Given the description of an element on the screen output the (x, y) to click on. 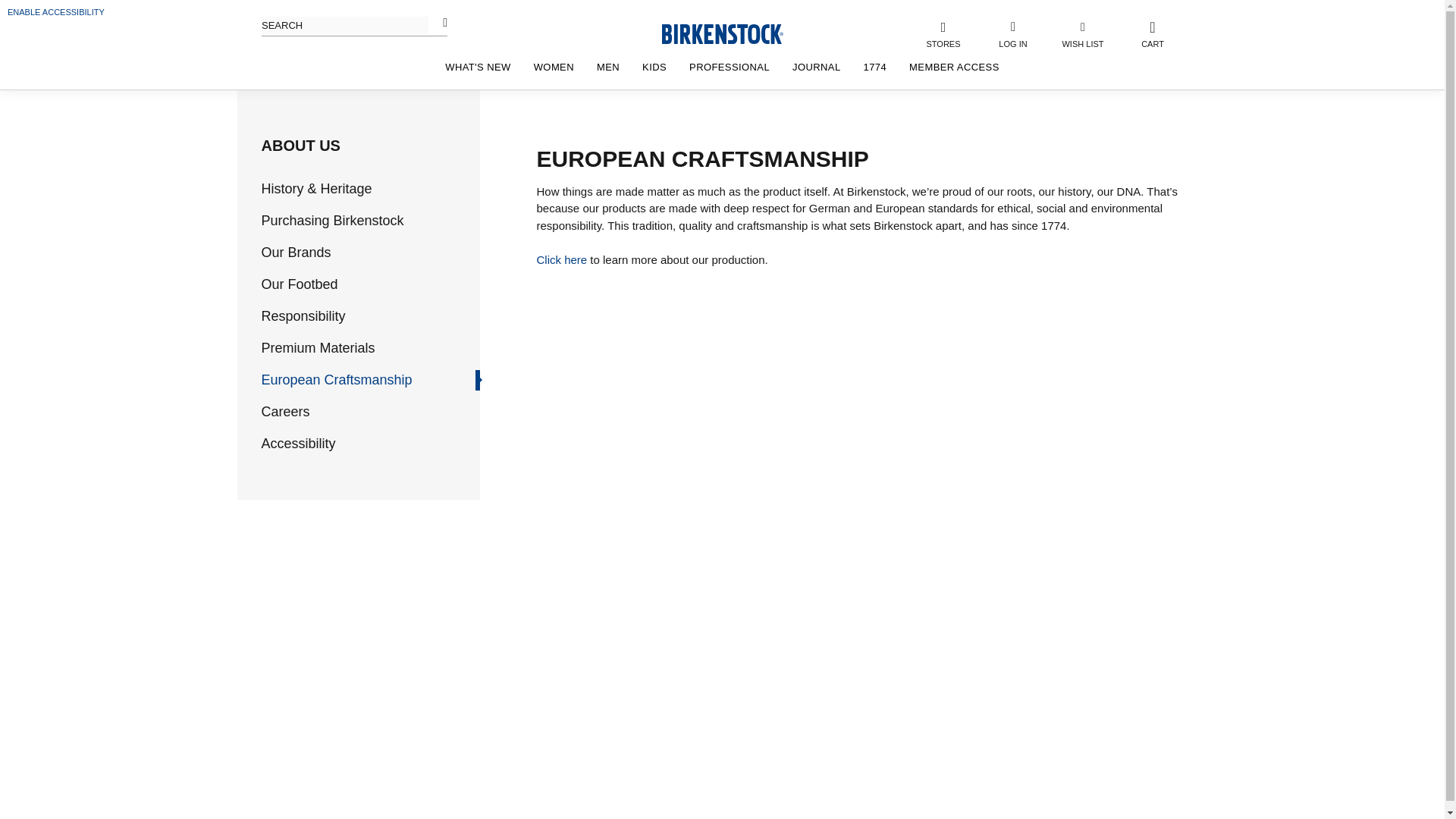
Display wishlist (1082, 33)
ENABLE ACCESSIBILITY (55, 11)
Purchasing Birkenstock (369, 220)
Log in (1033, 283)
Responsibility (369, 316)
Our Brands (369, 252)
My information (1012, 33)
Premium Materials (369, 348)
WISH LIST (1082, 33)
Accessibility (369, 444)
